Given the description of an element on the screen output the (x, y) to click on. 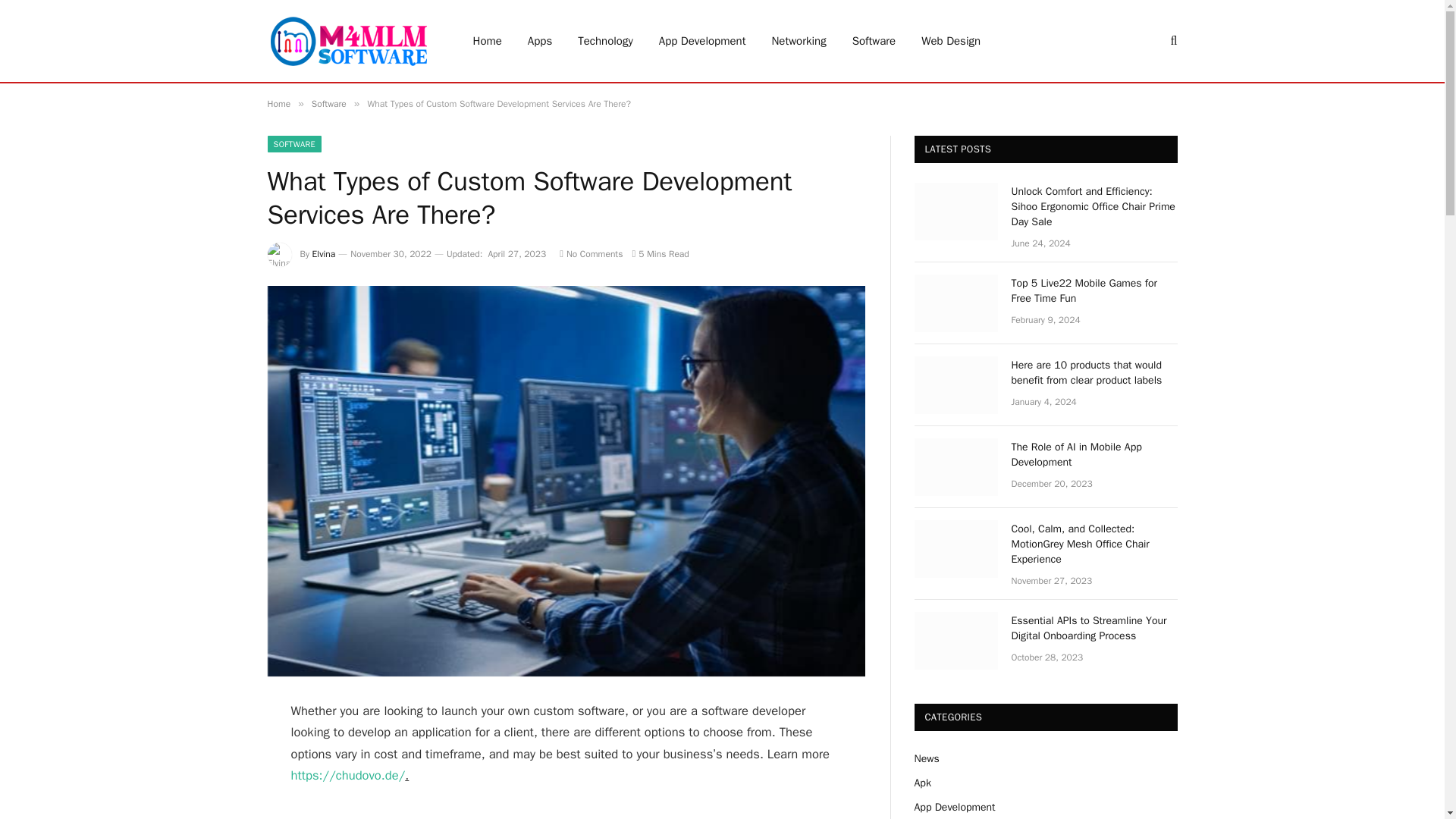
Elvina (324, 254)
SOFTWARE (293, 143)
Apps (539, 40)
Search (1172, 41)
Home (486, 40)
Home (277, 103)
Software (328, 103)
Web Design (950, 40)
M4mlmsoftware.com (349, 40)
Technology (605, 40)
App Development (702, 40)
